Given the description of an element on the screen output the (x, y) to click on. 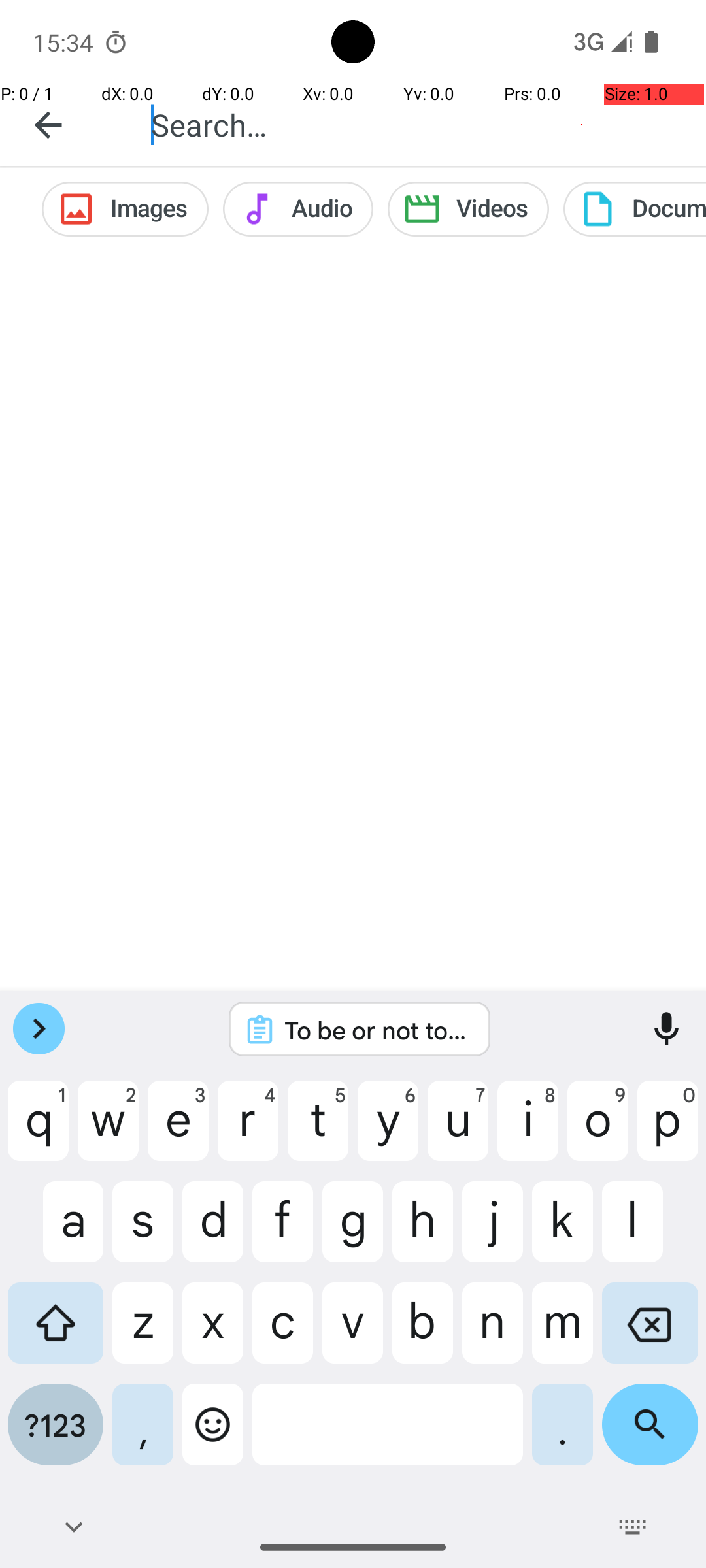
To be or not to be. Element type: android.widget.TextView (376, 1029)
